Given the description of an element on the screen output the (x, y) to click on. 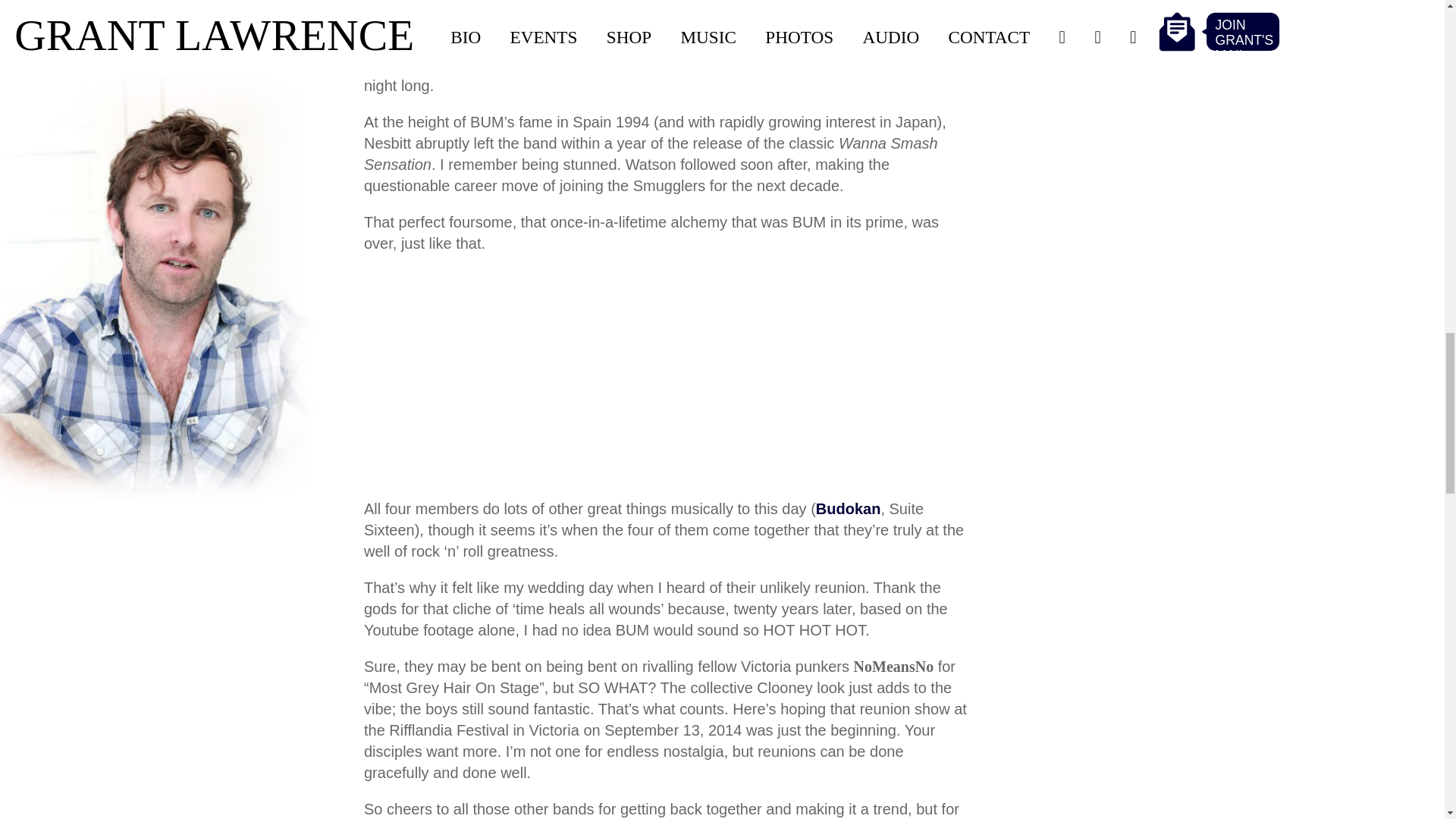
Budokan (847, 510)
